Given the description of an element on the screen output the (x, y) to click on. 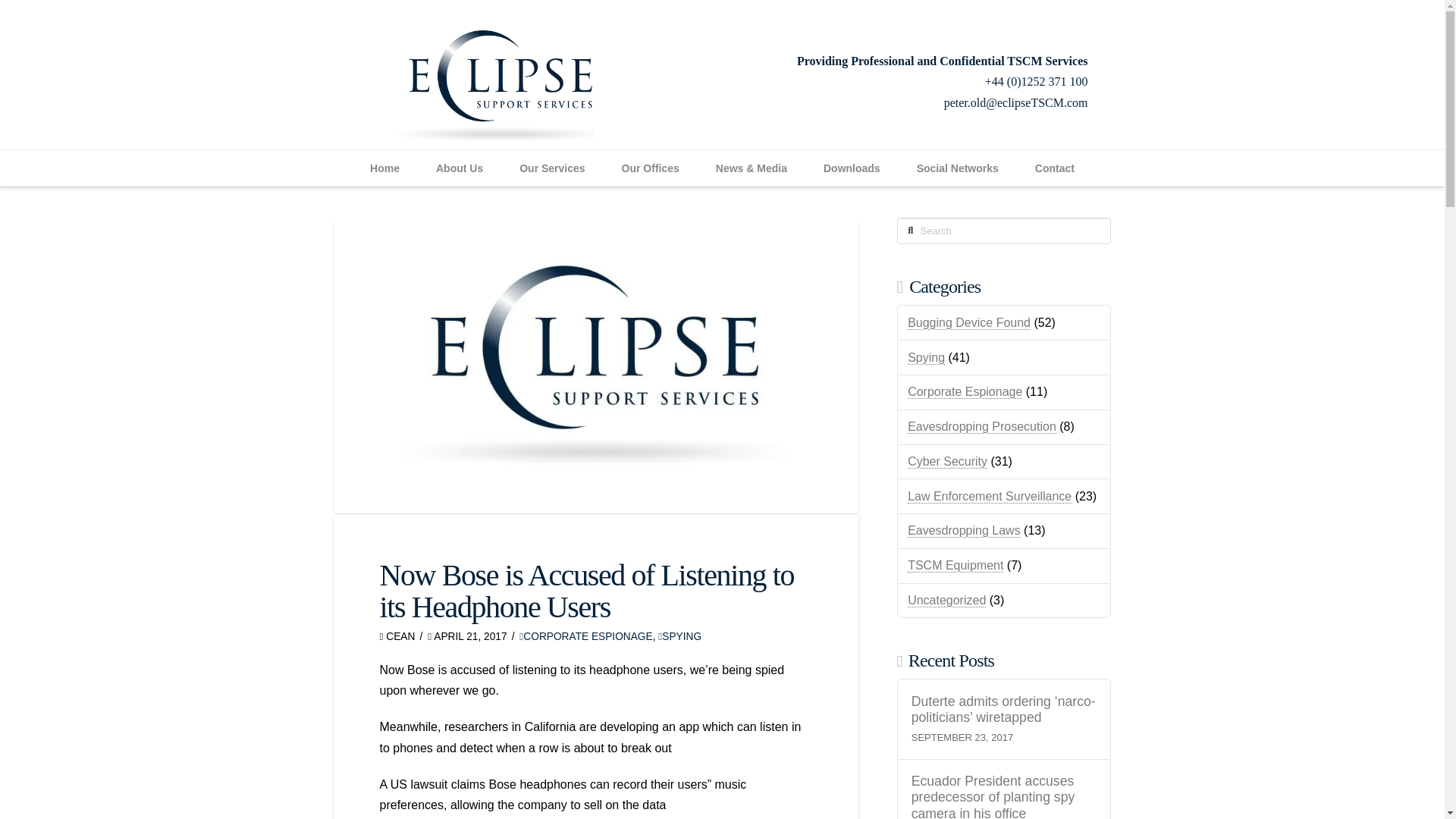
Our Services (551, 167)
Eavesdropping Prosecution (982, 427)
Uncategorized (946, 600)
Eavesdropping Laws (963, 530)
TSCM Equipment (955, 565)
Social Networks (957, 167)
Corporate Espionage (964, 391)
SPYING (679, 636)
Our Offices (650, 167)
Bugging Device Found (968, 323)
